Given the description of an element on the screen output the (x, y) to click on. 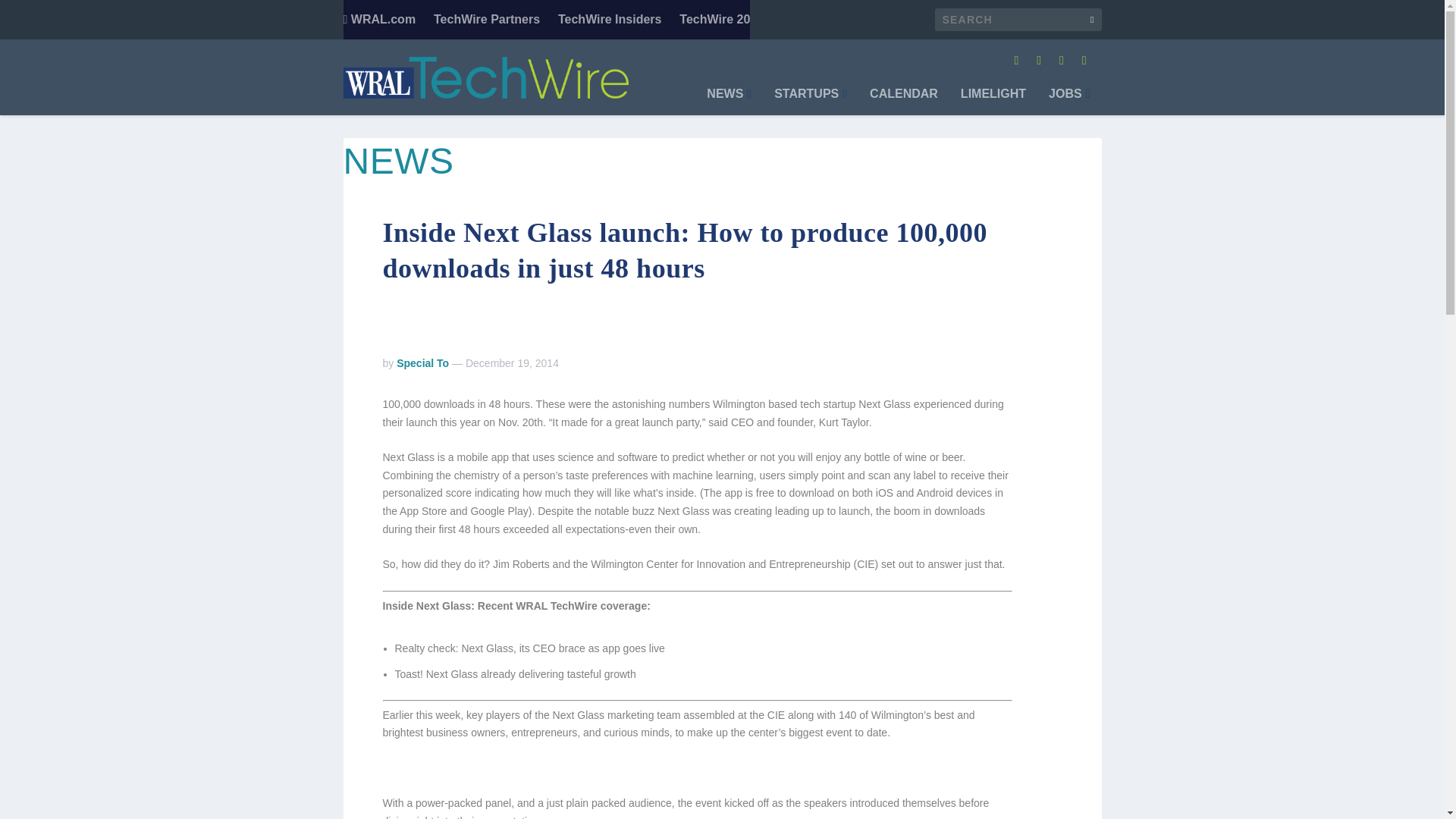
TechWire Partners (486, 19)
WRAL.com (378, 19)
NEWS (728, 101)
TechWire 20 (714, 19)
LIMELIGHT (993, 101)
CALENDAR (903, 101)
TechWire Insiders (609, 19)
Search for: (1017, 19)
STARTUPS (810, 101)
JOBS (1068, 101)
